Given the description of an element on the screen output the (x, y) to click on. 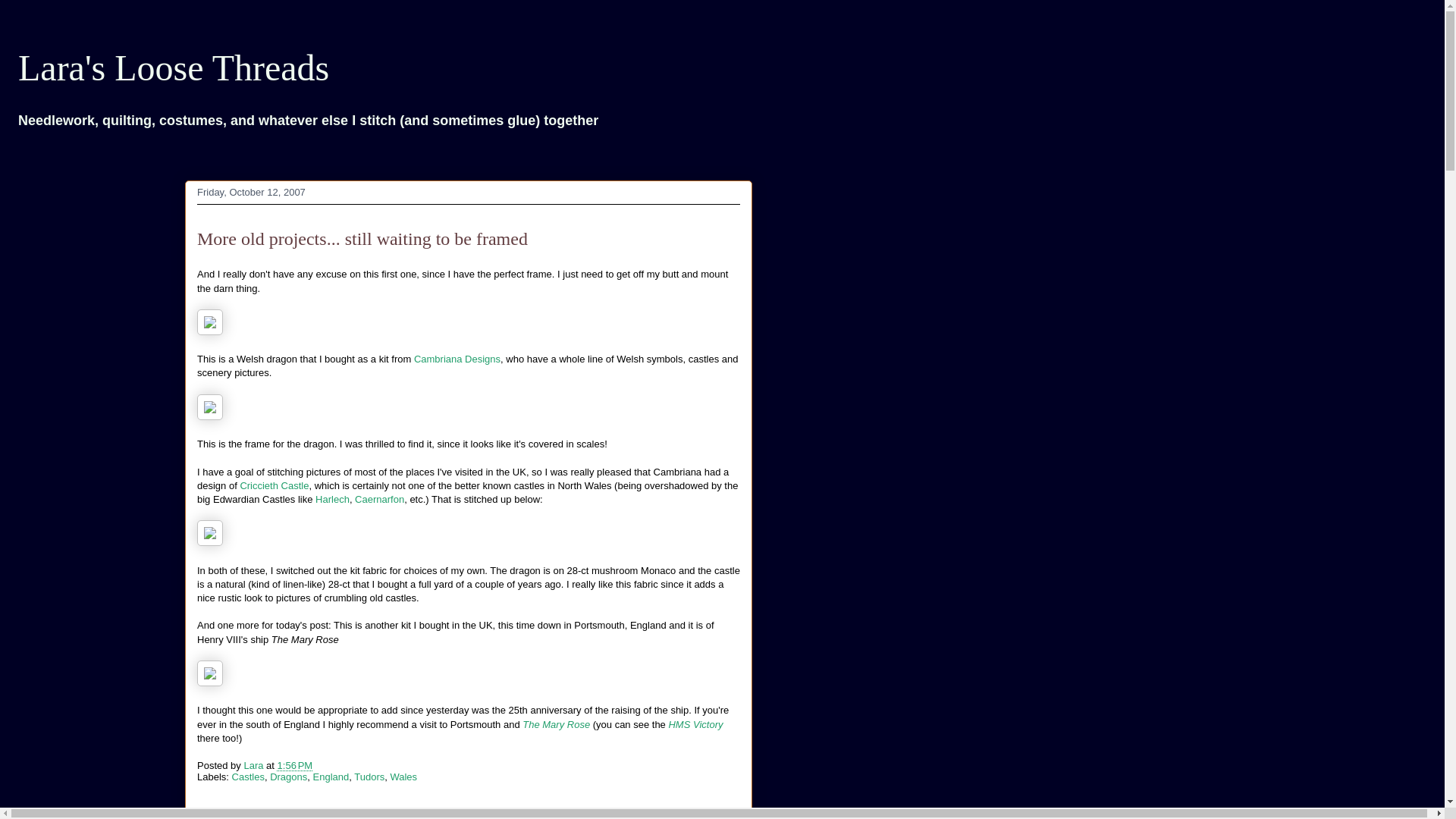
Dragons (288, 776)
Lara's Loose Threads (173, 67)
Tudors (368, 776)
HMS Victory (695, 724)
author profile (254, 765)
Criccieth Castle (274, 485)
Harlech (332, 499)
Cambriana Designs (456, 358)
Castles (247, 776)
Caernarfon (379, 499)
England (331, 776)
Wales (403, 776)
Lara (254, 765)
permanent link (295, 765)
